Given the description of an element on the screen output the (x, y) to click on. 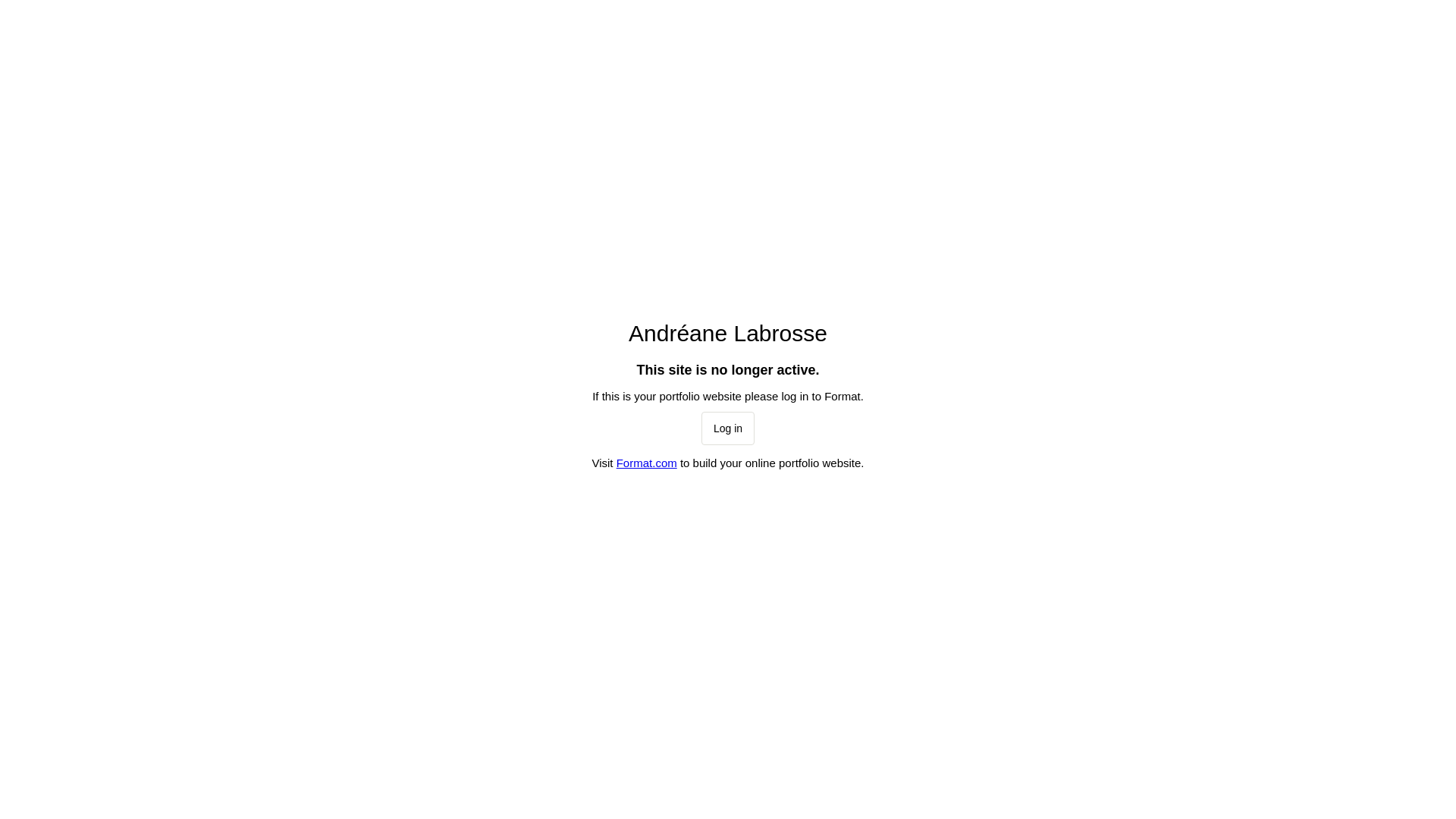
Format.com Element type: text (646, 462)
Log in Element type: text (727, 428)
